Given the description of an element on the screen output the (x, y) to click on. 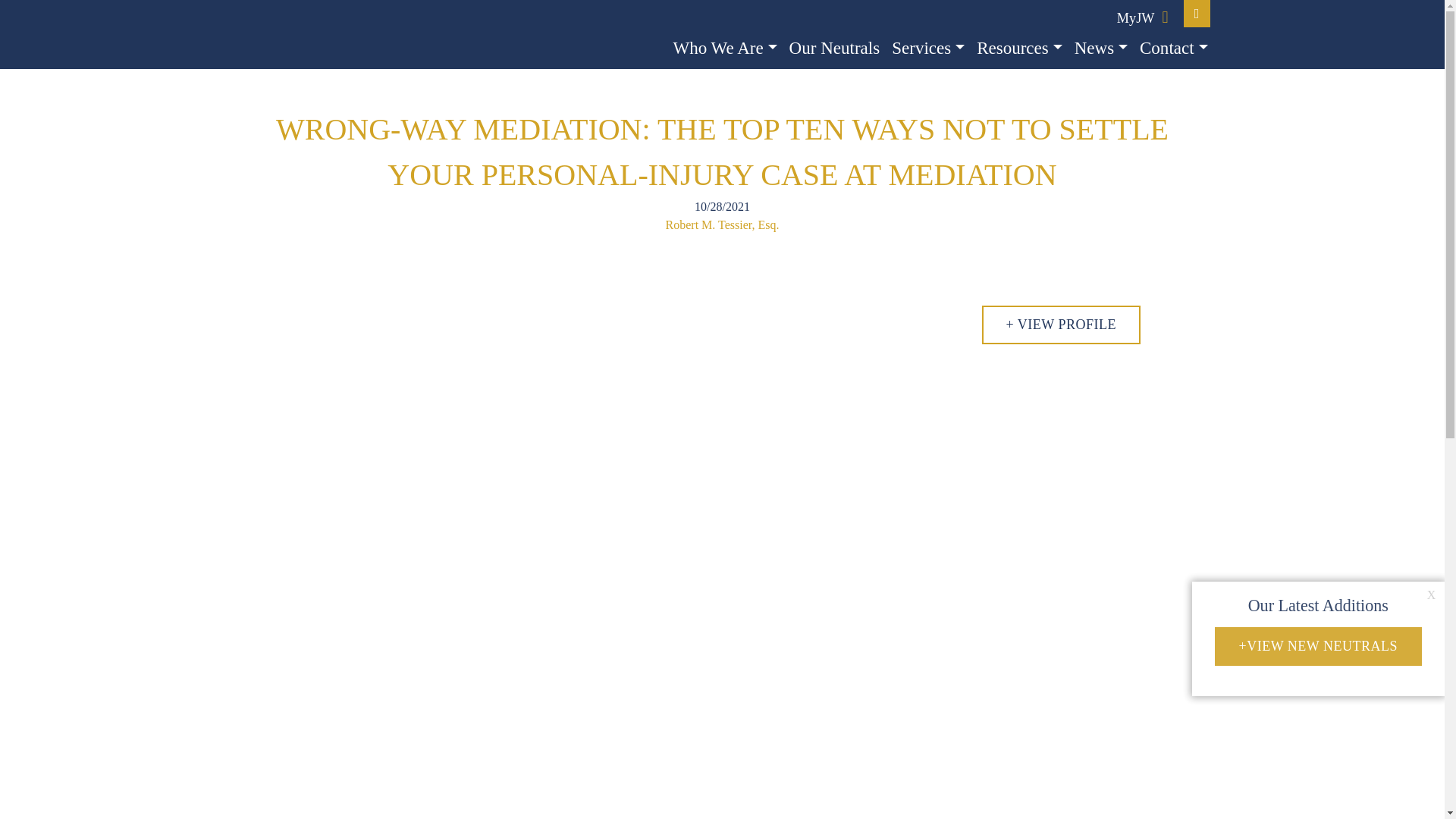
News (1101, 48)
Our Neutrals (834, 48)
Services (928, 48)
Contact (1174, 48)
Who We Are (724, 48)
Resources (1019, 48)
